Given the description of an element on the screen output the (x, y) to click on. 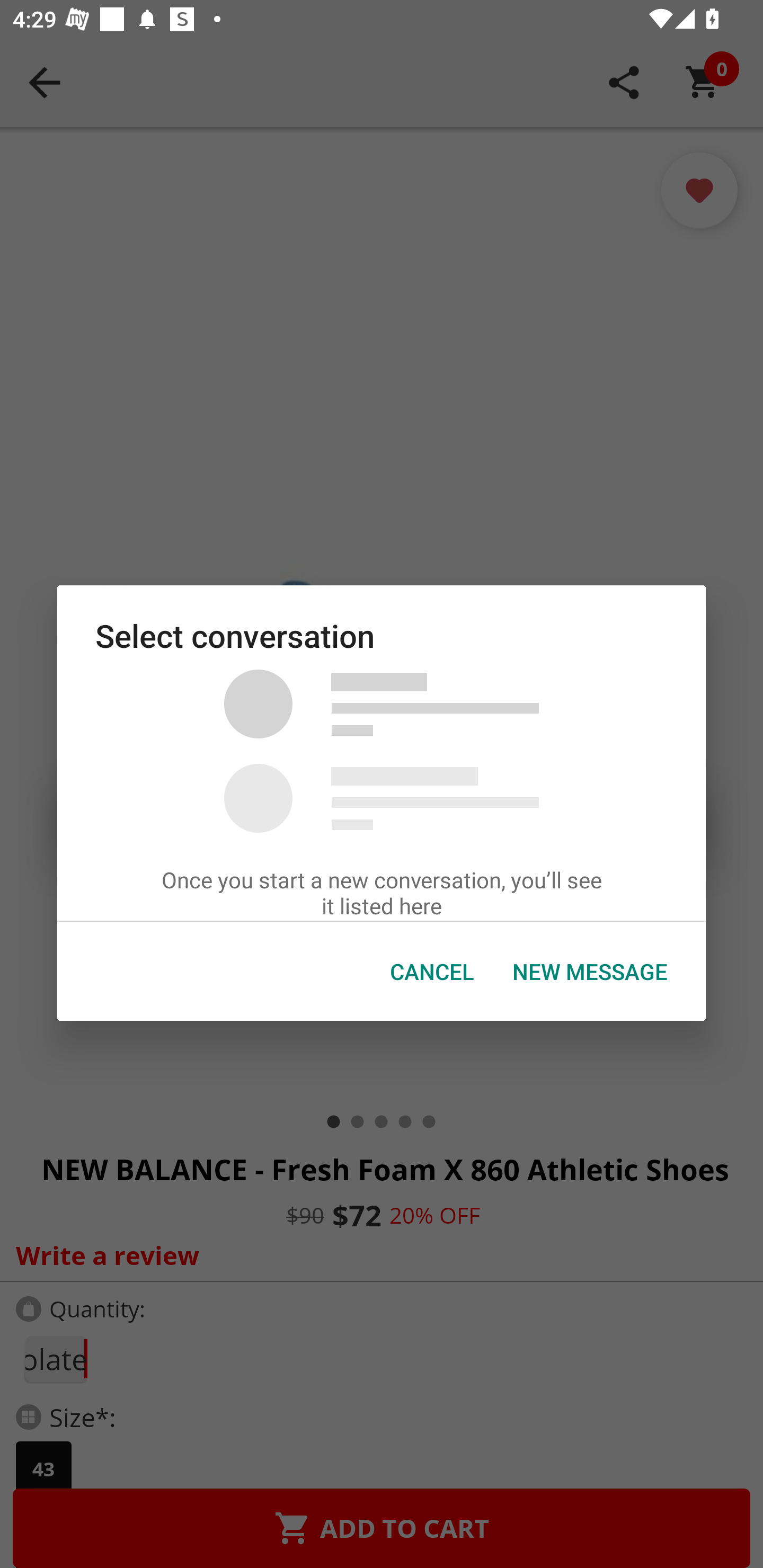
CANCEL (431, 971)
NEW MESSAGE (589, 971)
